Given the description of an element on the screen output the (x, y) to click on. 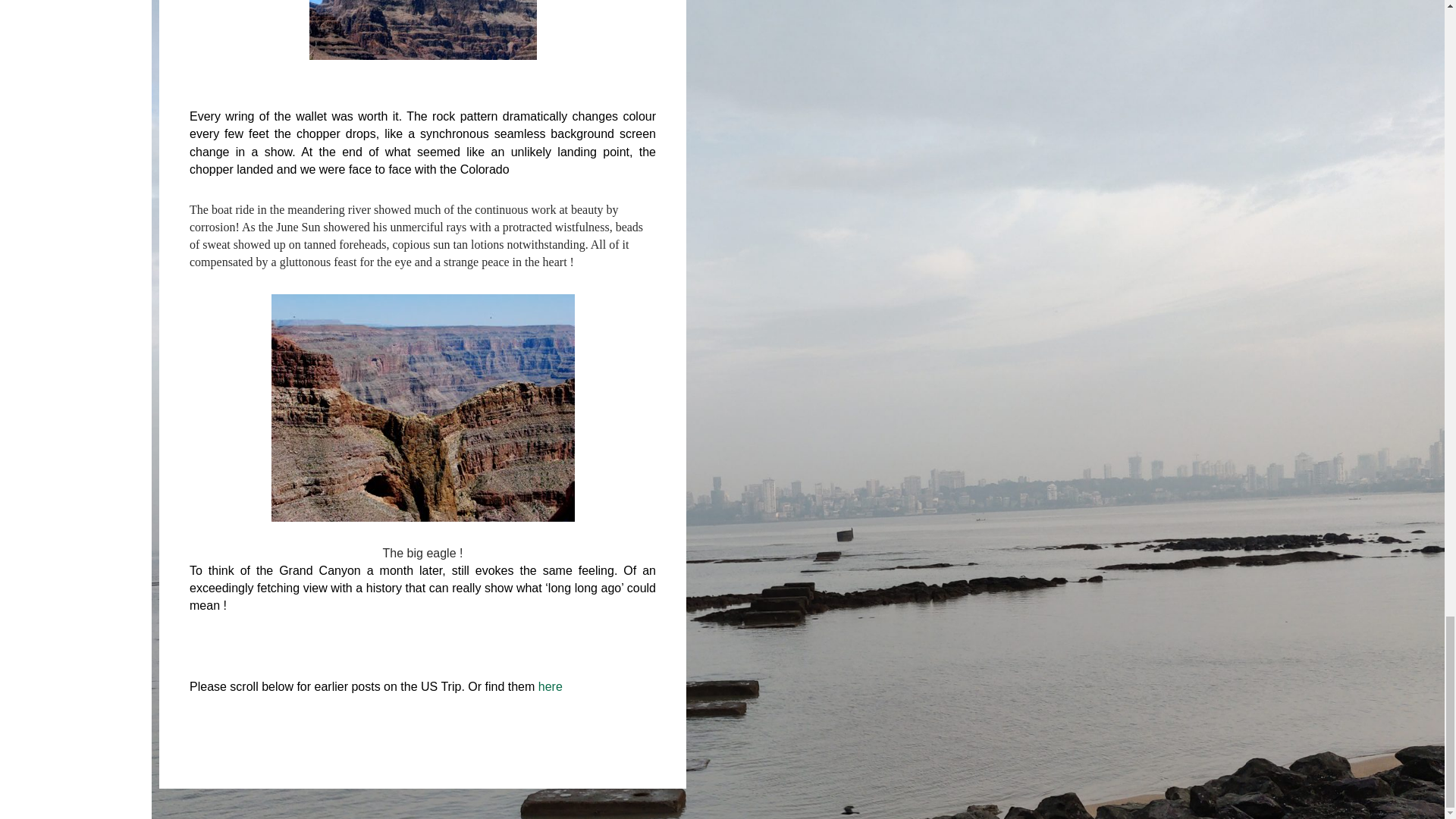
here (550, 686)
